Given the description of an element on the screen output the (x, y) to click on. 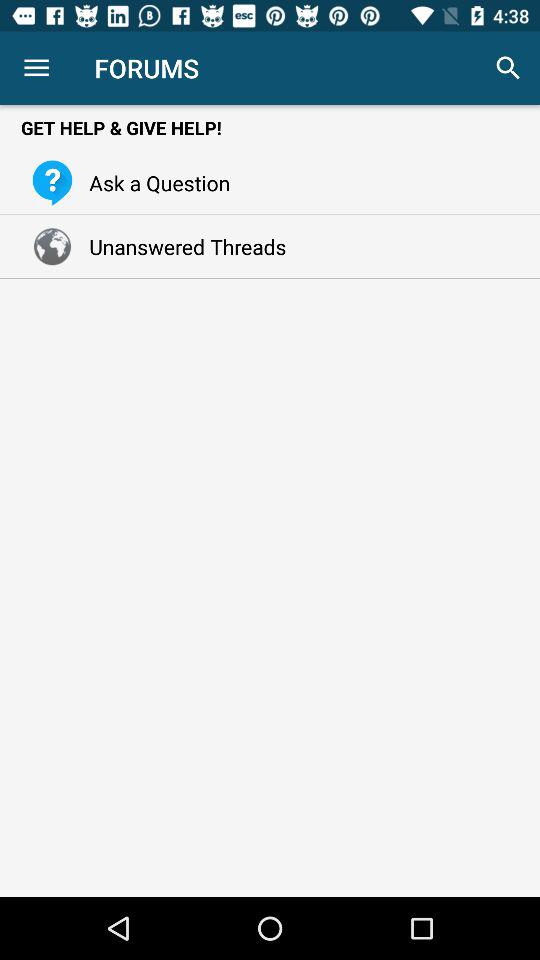
choose item next to forums item (36, 68)
